Given the description of an element on the screen output the (x, y) to click on. 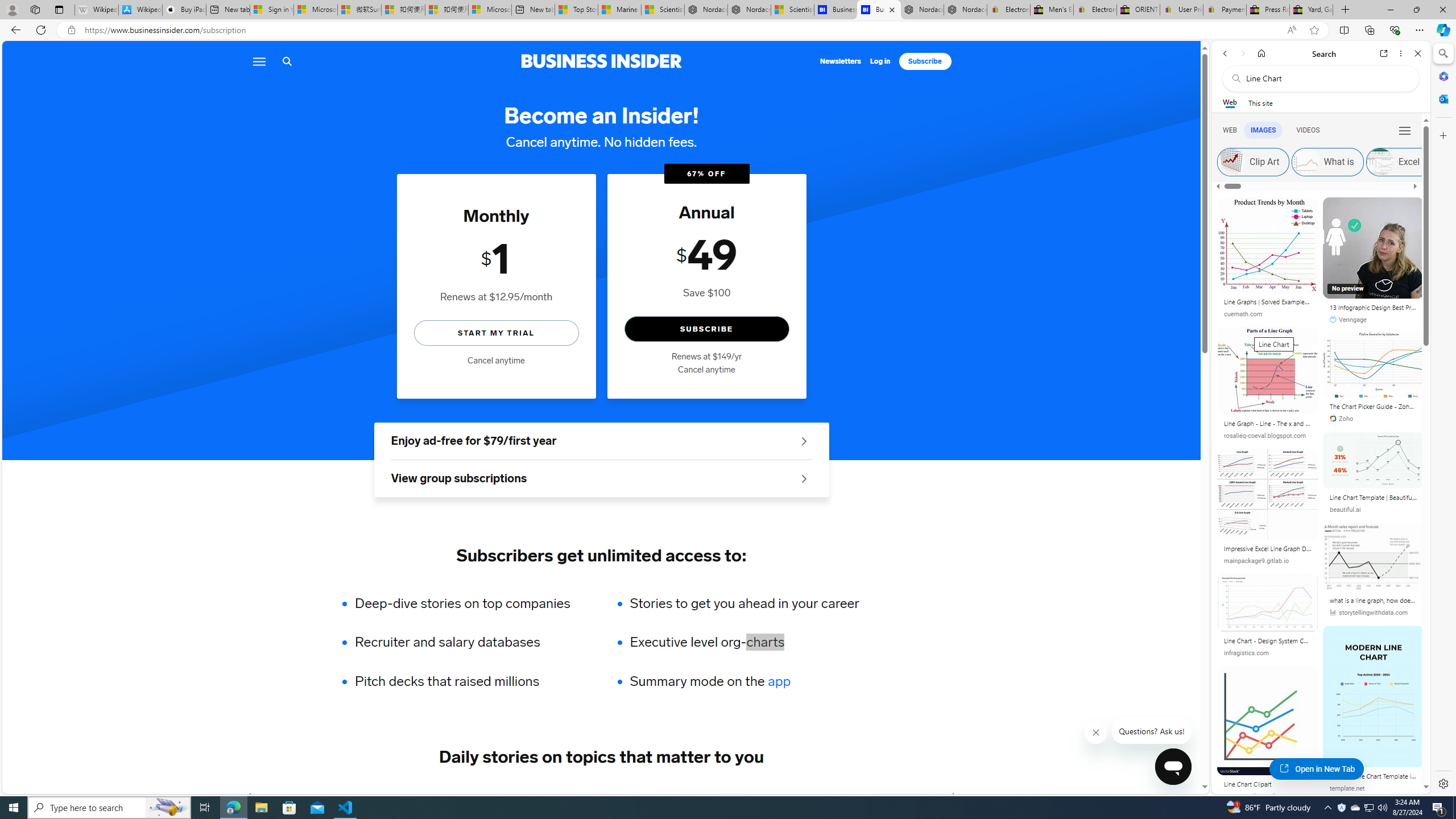
Class: b_serphb (1404, 130)
Menu icon (257, 61)
Line Chart Clipart (1267, 785)
infragistics.com (1267, 652)
13 Infographic Design Best Practices - Venngage (1373, 247)
Zoho (1372, 418)
